Given the description of an element on the screen output the (x, y) to click on. 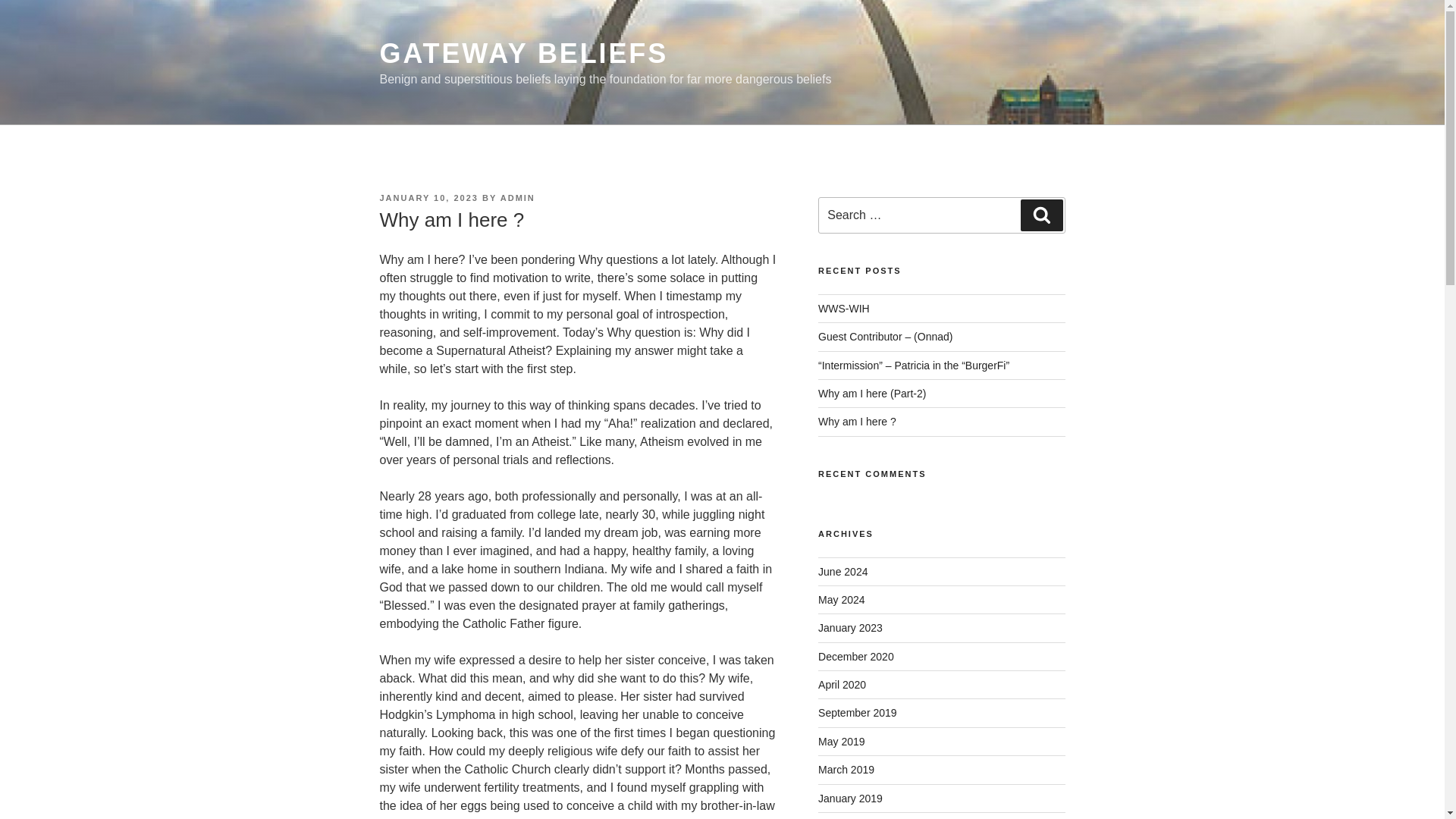
Why am I here ? (857, 421)
Search (1041, 214)
December 2020 (855, 656)
September 2019 (857, 712)
March 2019 (846, 769)
WWS-WIH (843, 308)
April 2020 (842, 684)
January 2023 (850, 627)
January 2019 (850, 798)
June 2024 (842, 571)
GATEWAY BELIEFS (523, 52)
May 2024 (841, 599)
May 2019 (841, 741)
ADMIN (517, 197)
JANUARY 10, 2023 (427, 197)
